Given the description of an element on the screen output the (x, y) to click on. 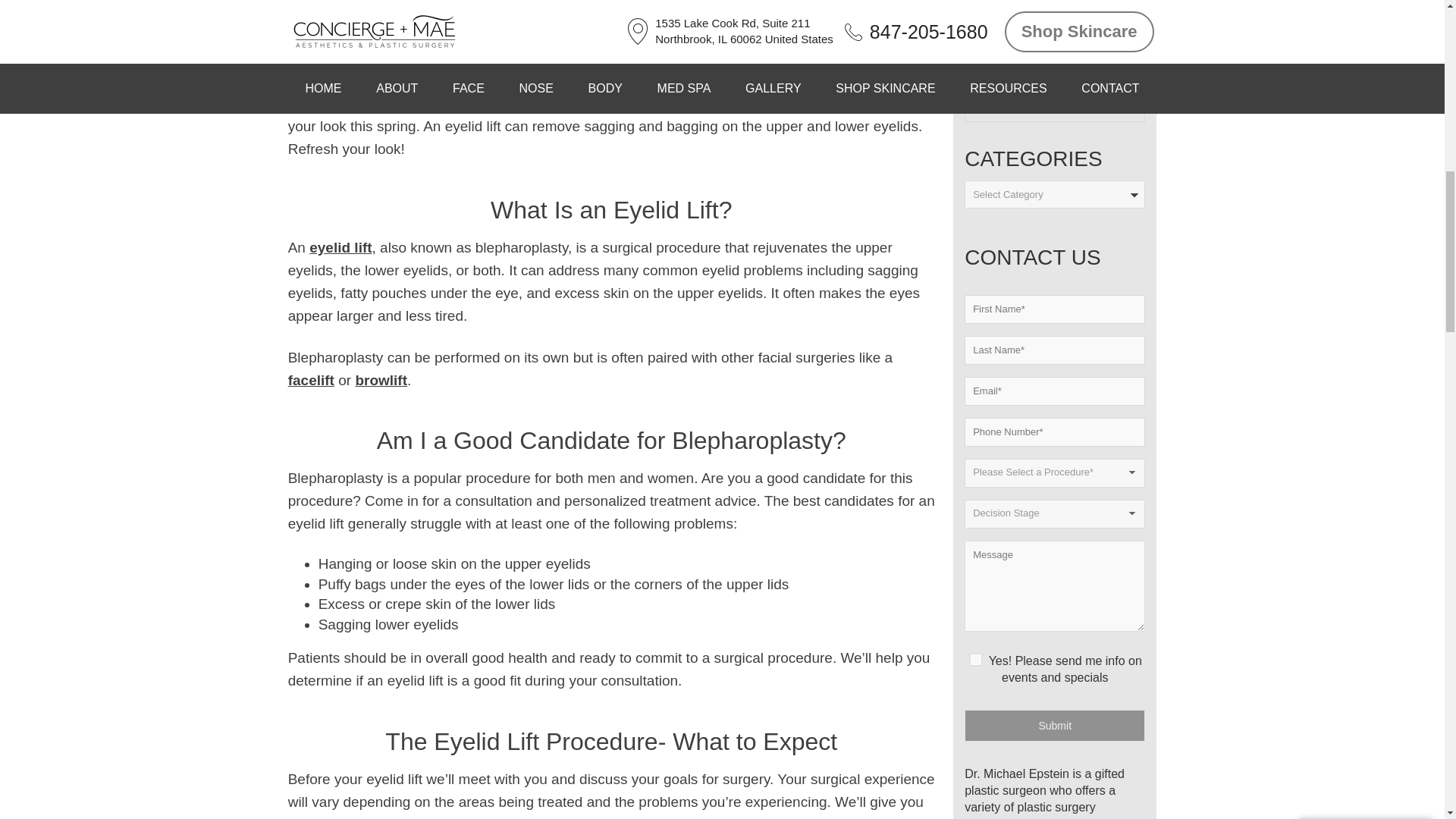
Yes! Please send me info on events and specials (976, 659)
Yes! Please send me info on events and specials (587, 201)
